Given the description of an element on the screen output the (x, y) to click on. 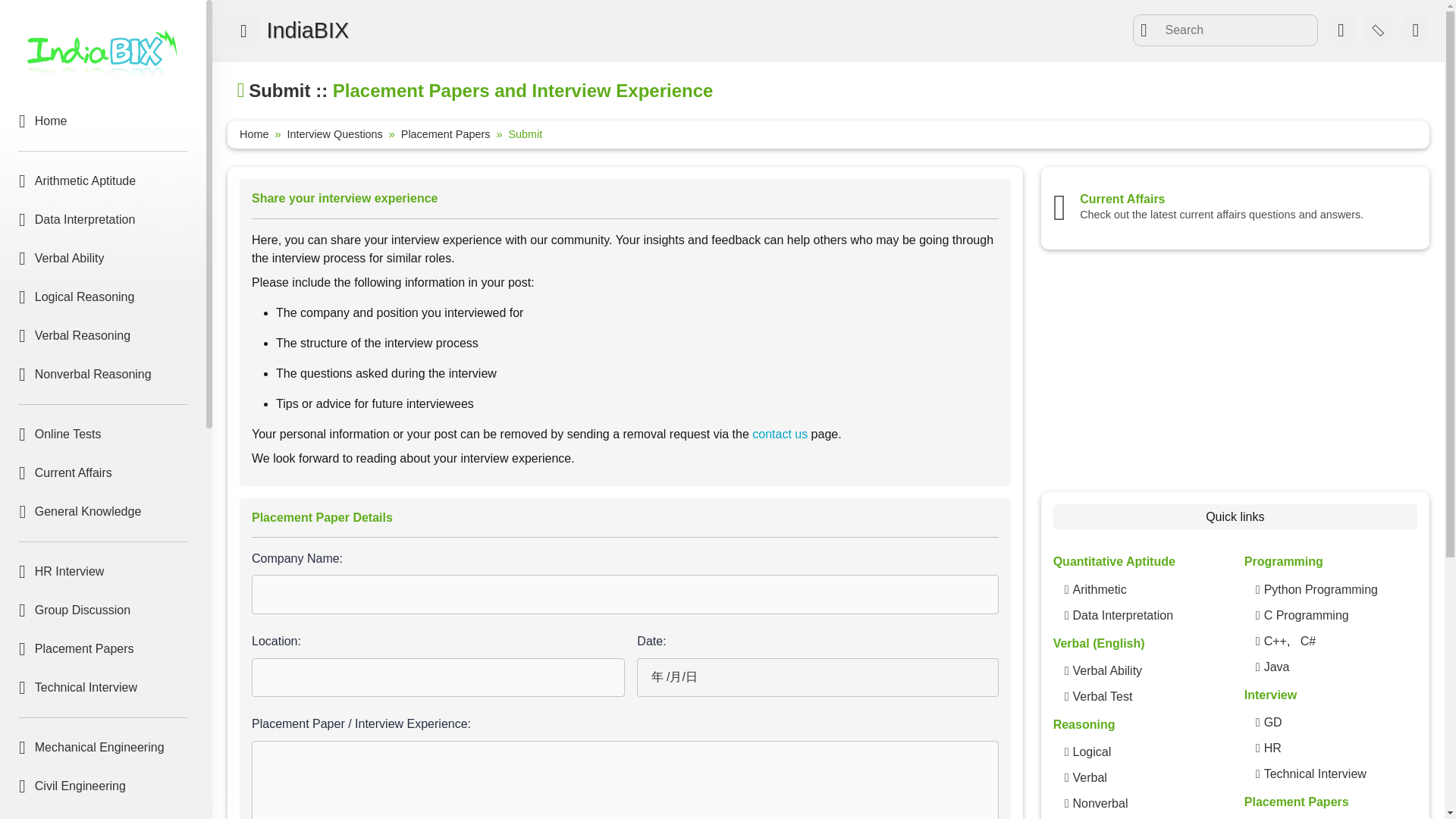
Technical Interview Questions (1315, 773)
Advertisement (1235, 373)
Mechanical Engineering (103, 747)
General Knowledge (103, 511)
IndiaBIX (304, 30)
Home (103, 121)
Civil Engineering (103, 786)
ECE (103, 813)
HR Interview (103, 571)
Nonverbal Reasoning (1098, 803)
